Given the description of an element on the screen output the (x, y) to click on. 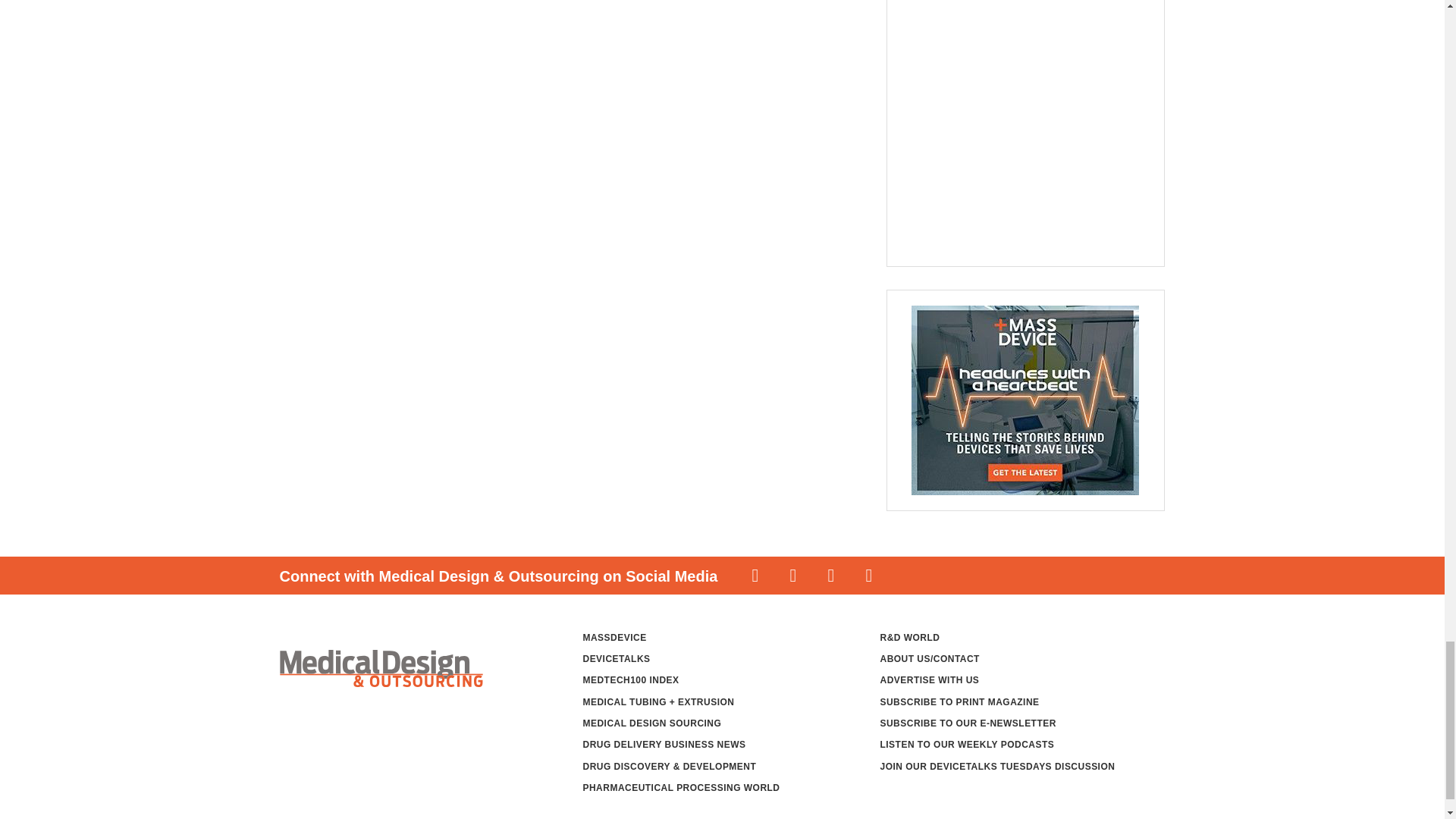
3rd party ad content (1015, 125)
